Given the description of an element on the screen output the (x, y) to click on. 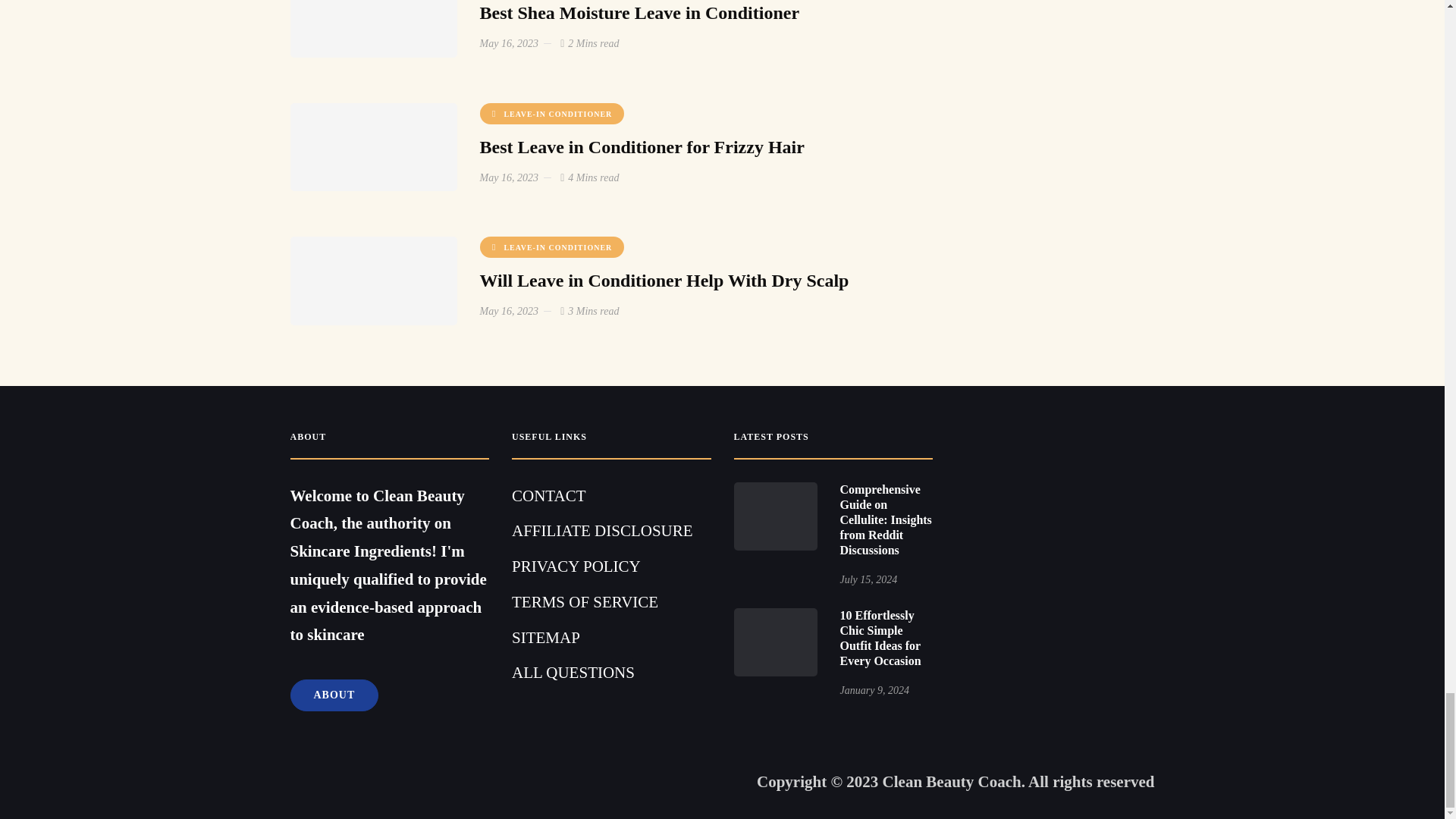
LEAVE-IN CONDITIONER (551, 246)
ALL QUESTIONS (573, 672)
AFFILIATE DISCLOSURE (602, 530)
PRIVACY POLICY (576, 566)
TERMS OF SERVICE (585, 601)
SITEMAP (545, 637)
Best Shea Moisture Leave in Conditioner (639, 12)
LEAVE-IN CONDITIONER (551, 113)
CONTACT (548, 495)
Will Leave in Conditioner Help With Dry Scalp (663, 280)
ABOUT (333, 695)
Best Leave in Conditioner for Frizzy Hair (641, 147)
